Given the description of an element on the screen output the (x, y) to click on. 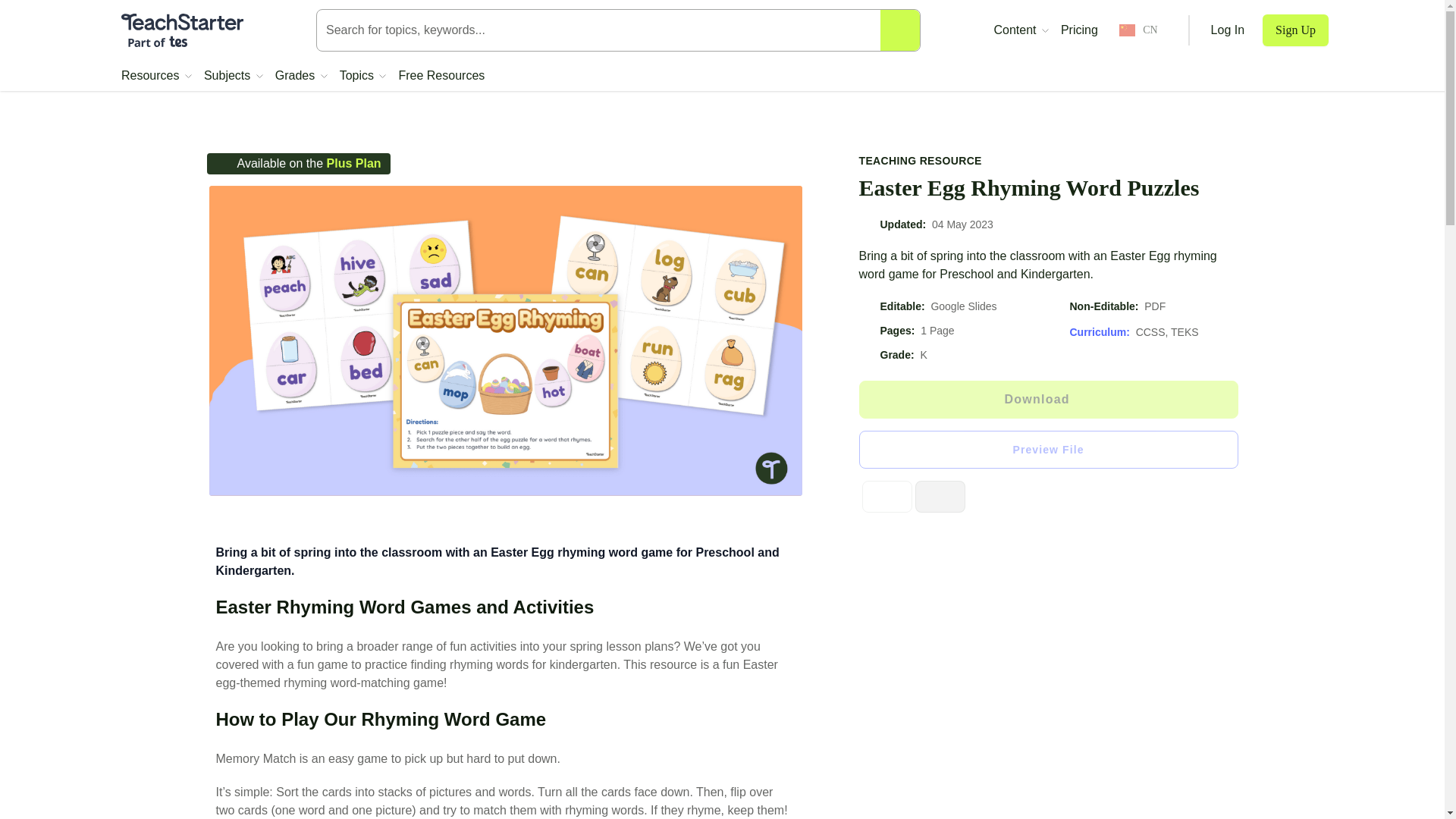
Pricing (1079, 30)
CN (1138, 30)
Content  (1020, 30)
Subjects  (233, 75)
Back to homepage (181, 29)
Blog, podcast, and webinars (1020, 30)
Create a Teach Starter account (1294, 29)
Resources  (156, 75)
Grades  (301, 75)
Teach Starter, part of Tes (181, 29)
Log in to your account (1227, 30)
Change location (1138, 30)
Sign Up (1294, 29)
Log In (1227, 30)
Resources (156, 75)
